Given the description of an element on the screen output the (x, y) to click on. 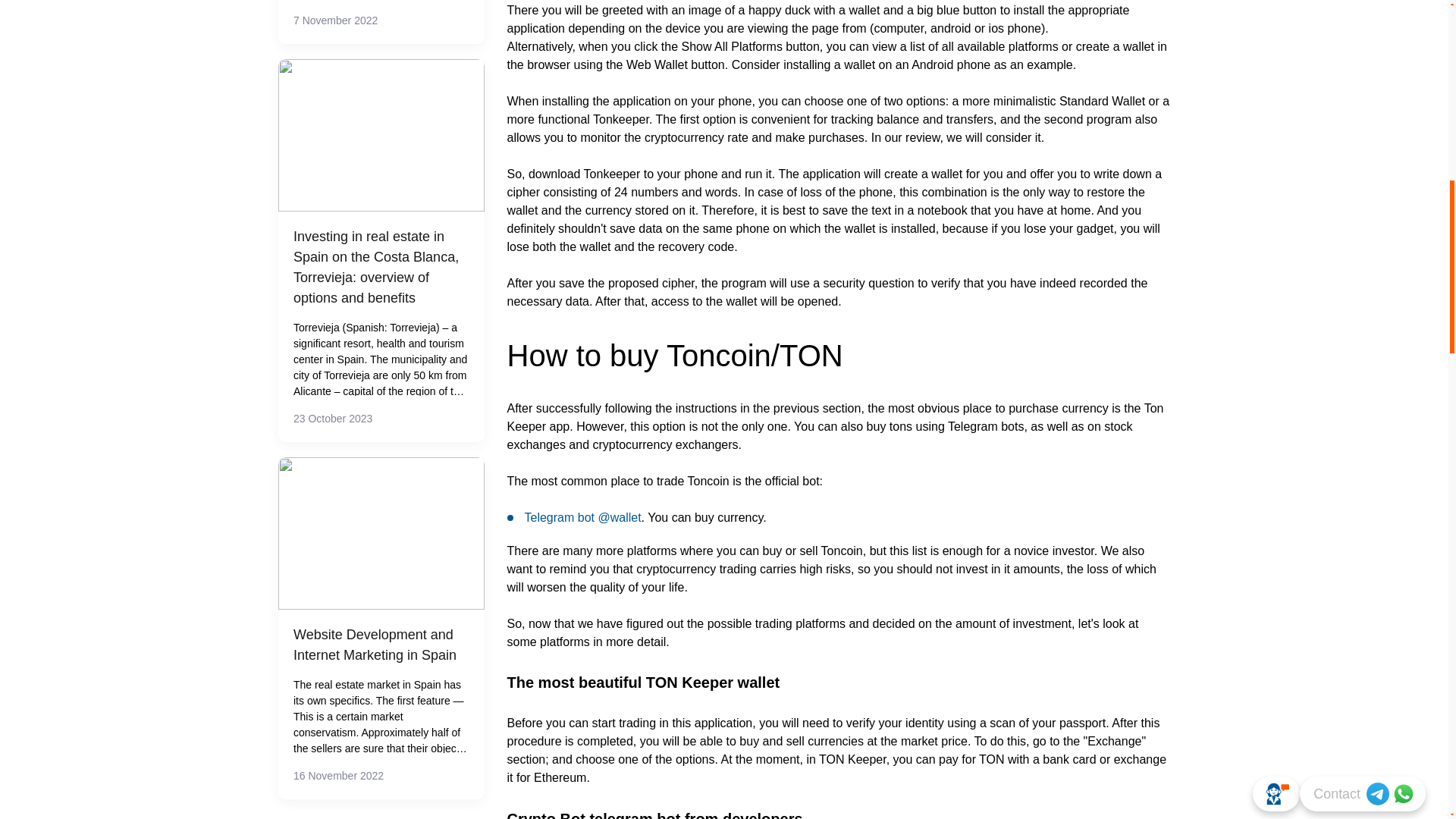
Website Development and Internet Marketing in Spain (381, 644)
